Given the description of an element on the screen output the (x, y) to click on. 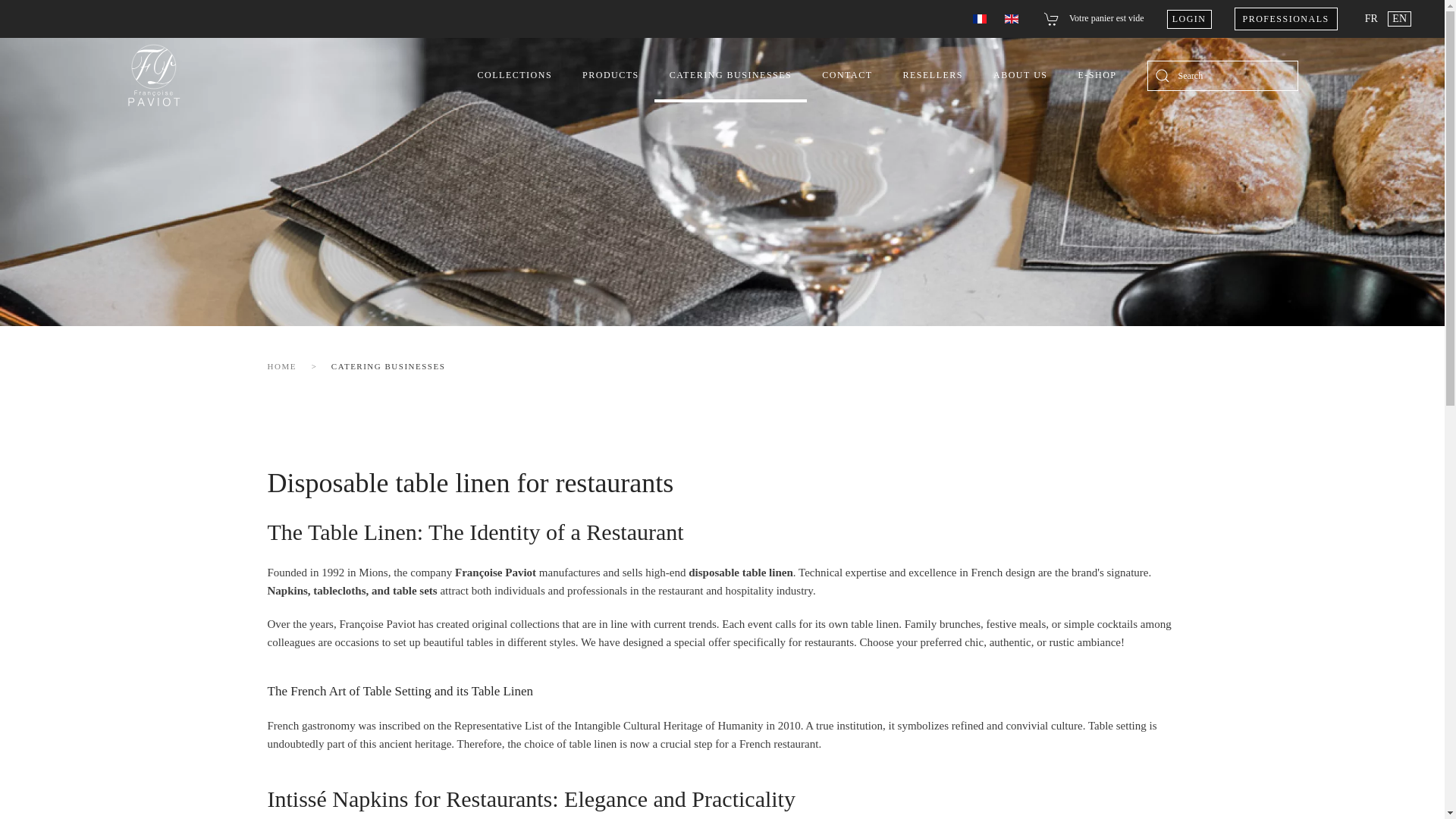
LOGIN (1189, 18)
PROFESSIONALS (1286, 18)
FR (1372, 18)
